Given the description of an element on the screen output the (x, y) to click on. 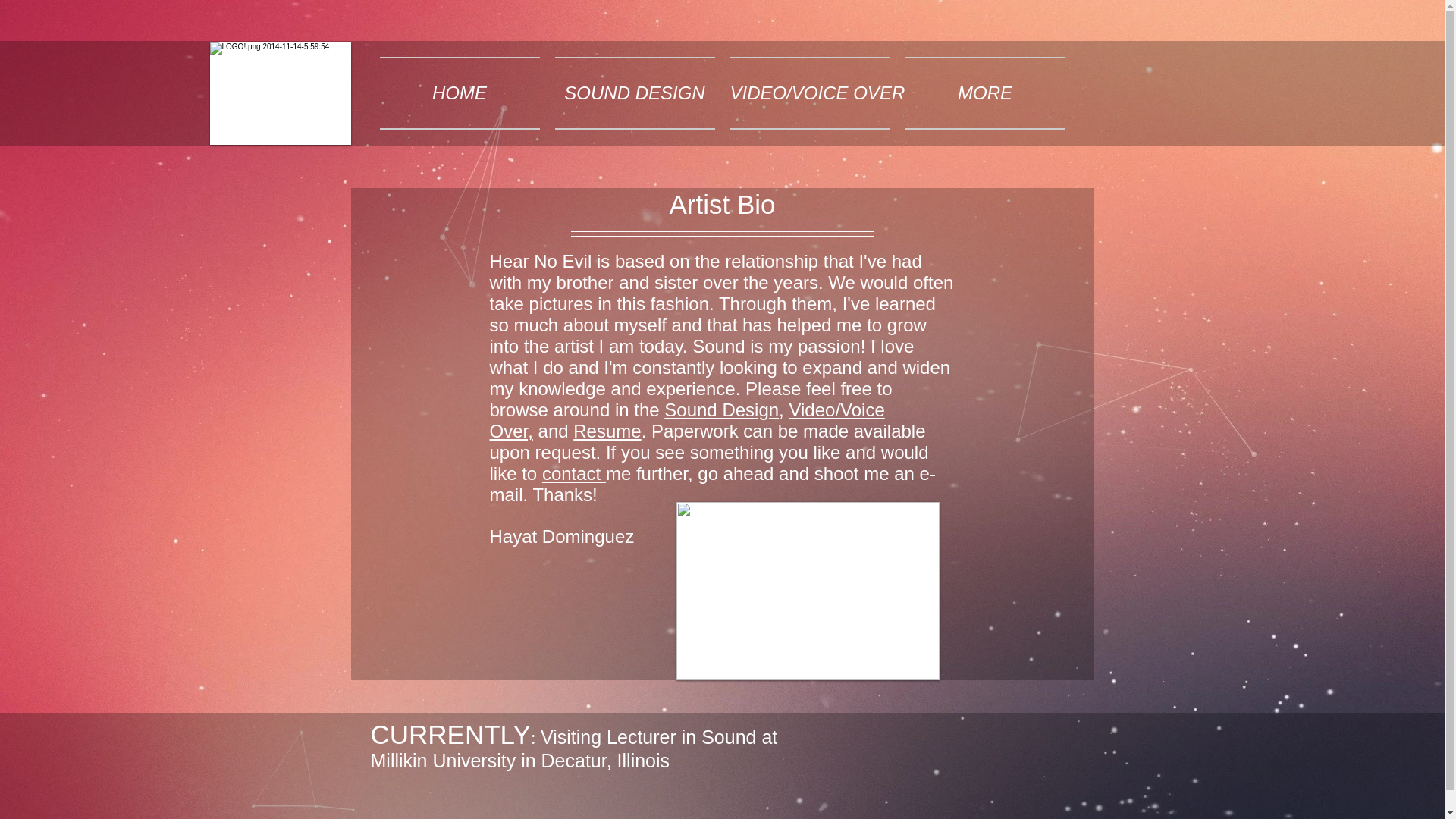
Resume (606, 430)
Sound Design (720, 409)
LOGO!.png 2014-11-14-5:59:54 (279, 93)
contact (573, 473)
HOME (459, 92)
SOUND DESIGN (634, 92)
